Given the description of an element on the screen output the (x, y) to click on. 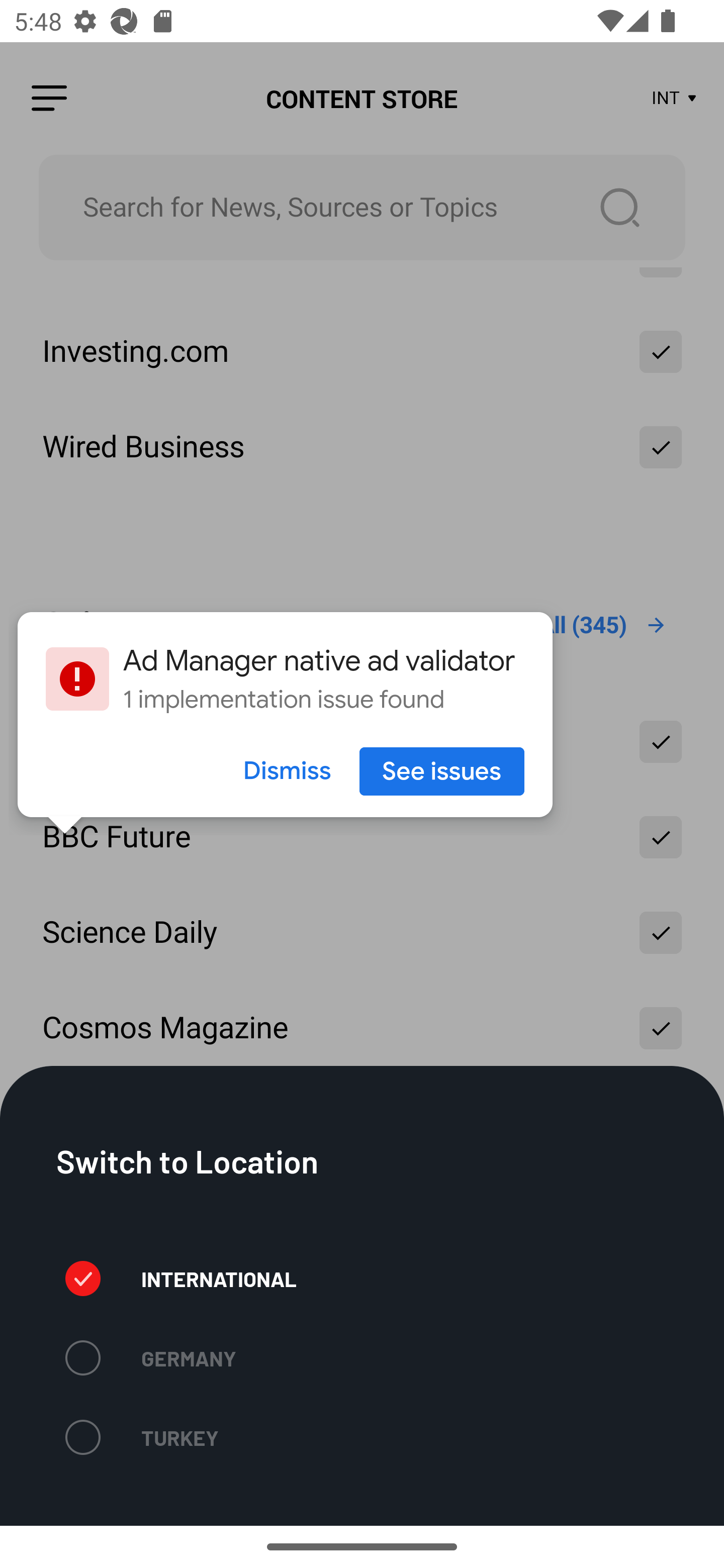
Selected News Style INTERNATIONAL (180, 1277)
GERMANY (150, 1357)
TURKEY (141, 1437)
